Given the description of an element on the screen output the (x, y) to click on. 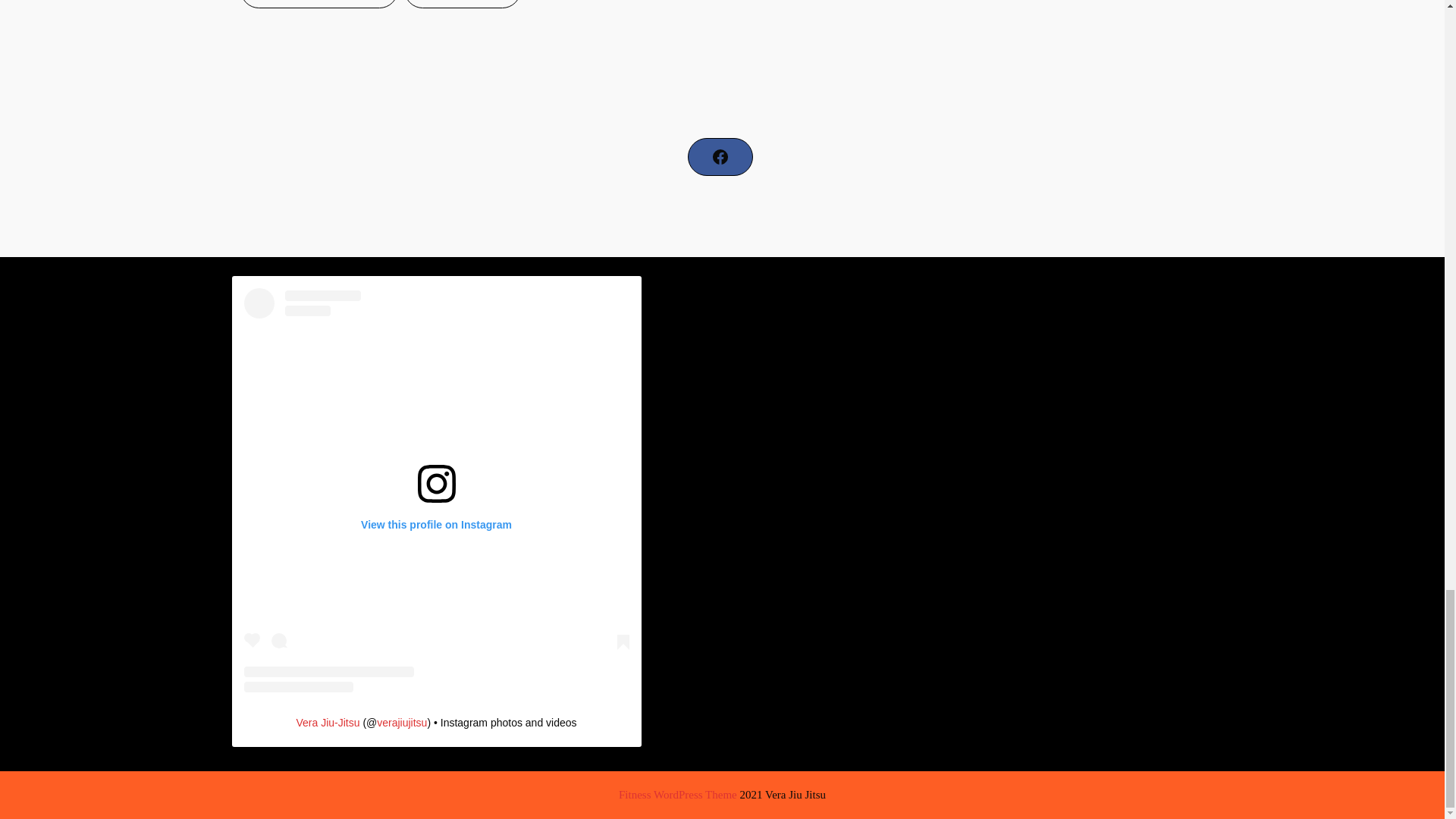
Facebook (719, 157)
Google Map (968, 65)
Facebook (719, 157)
Fitness WordPress Theme (677, 794)
verajiujitsu (401, 722)
Vera Jiu-Jitsu (327, 722)
